Given the description of an element on the screen output the (x, y) to click on. 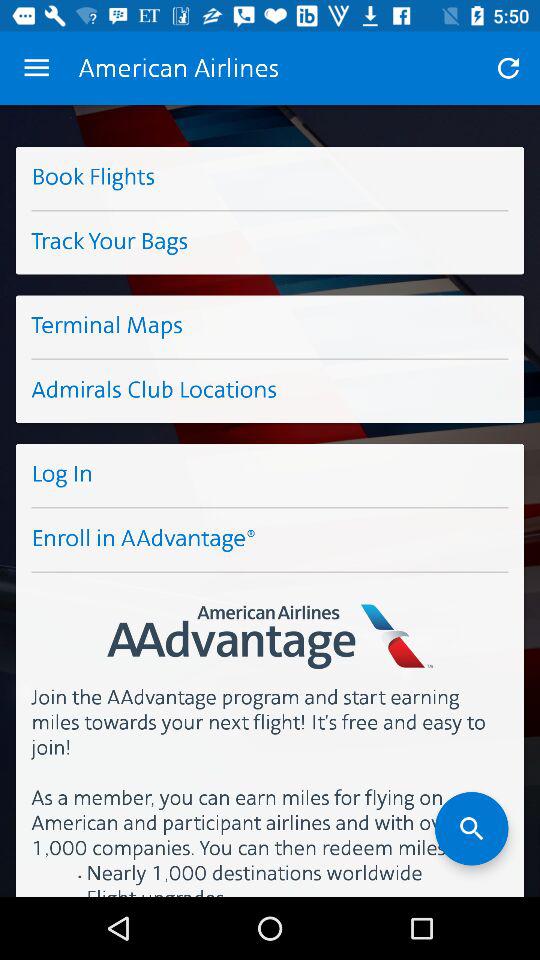
launch the track your bags item (269, 242)
